Given the description of an element on the screen output the (x, y) to click on. 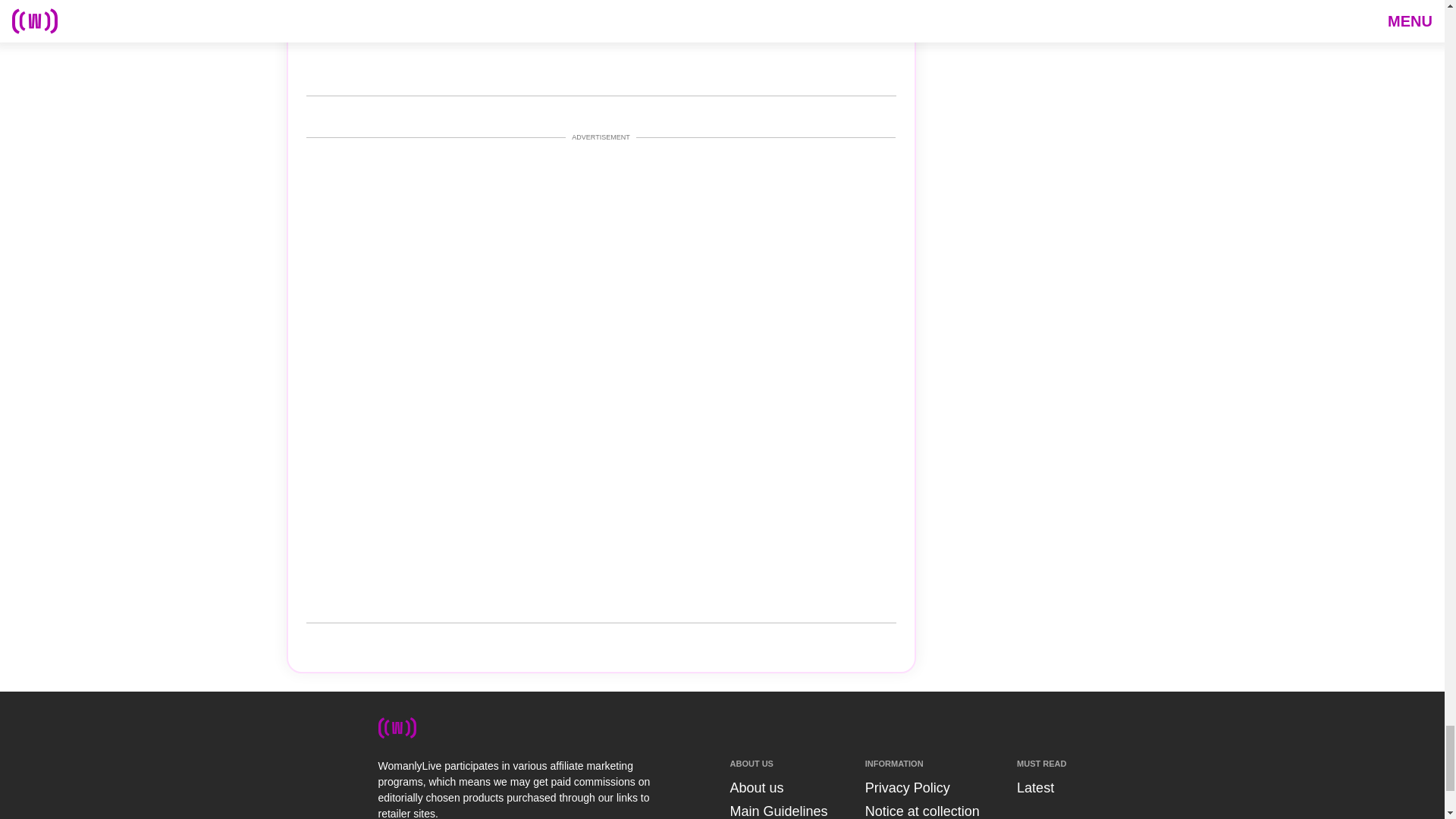
Main Guidelines (778, 811)
Privacy Policy (907, 787)
Notice at collection (921, 811)
About us (756, 787)
